Given the description of an element on the screen output the (x, y) to click on. 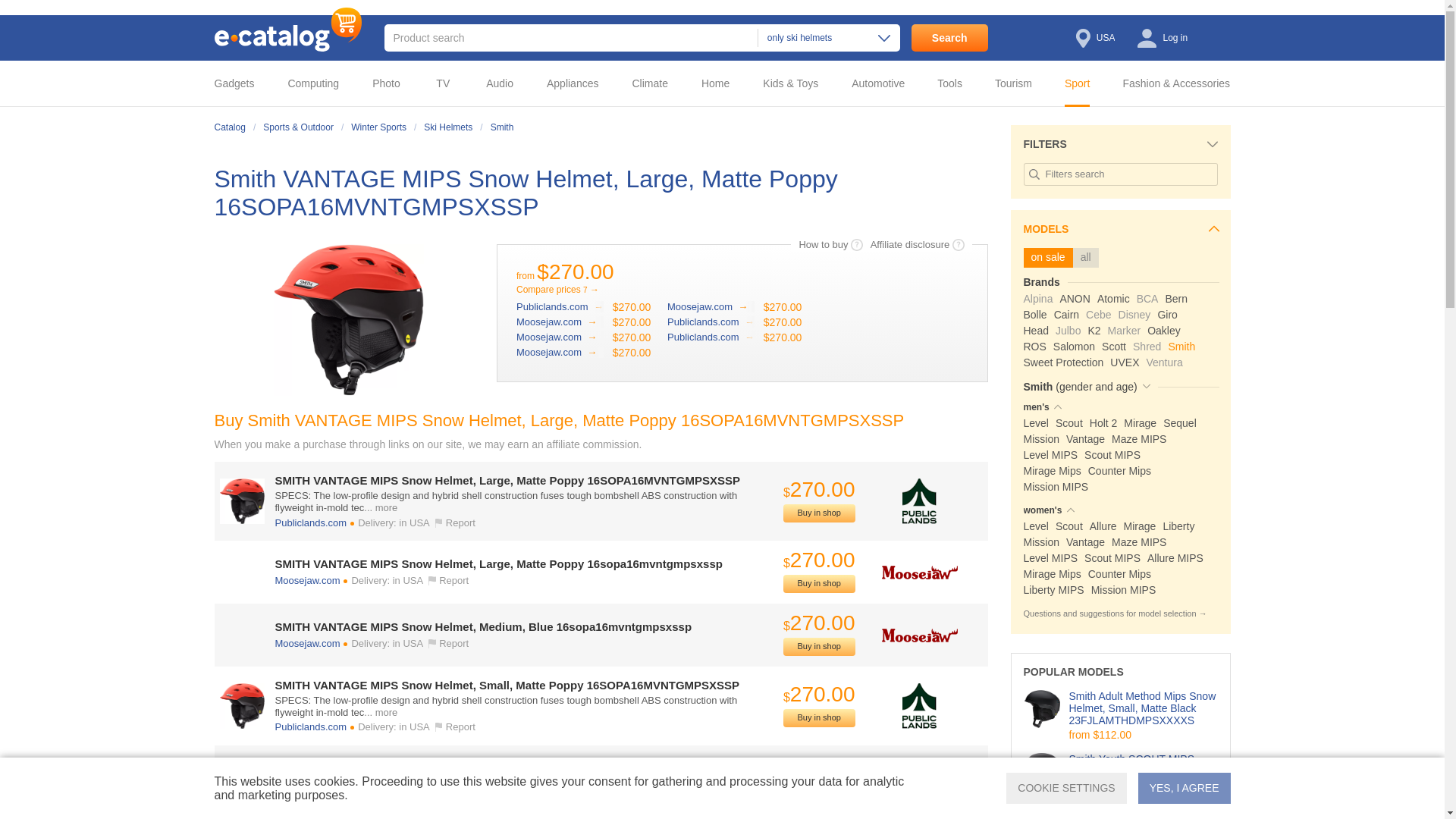
Increase (348, 319)
Search (949, 37)
 TV  (448, 83)
Share Page (972, 150)
Computing (318, 83)
